Given the description of an element on the screen output the (x, y) to click on. 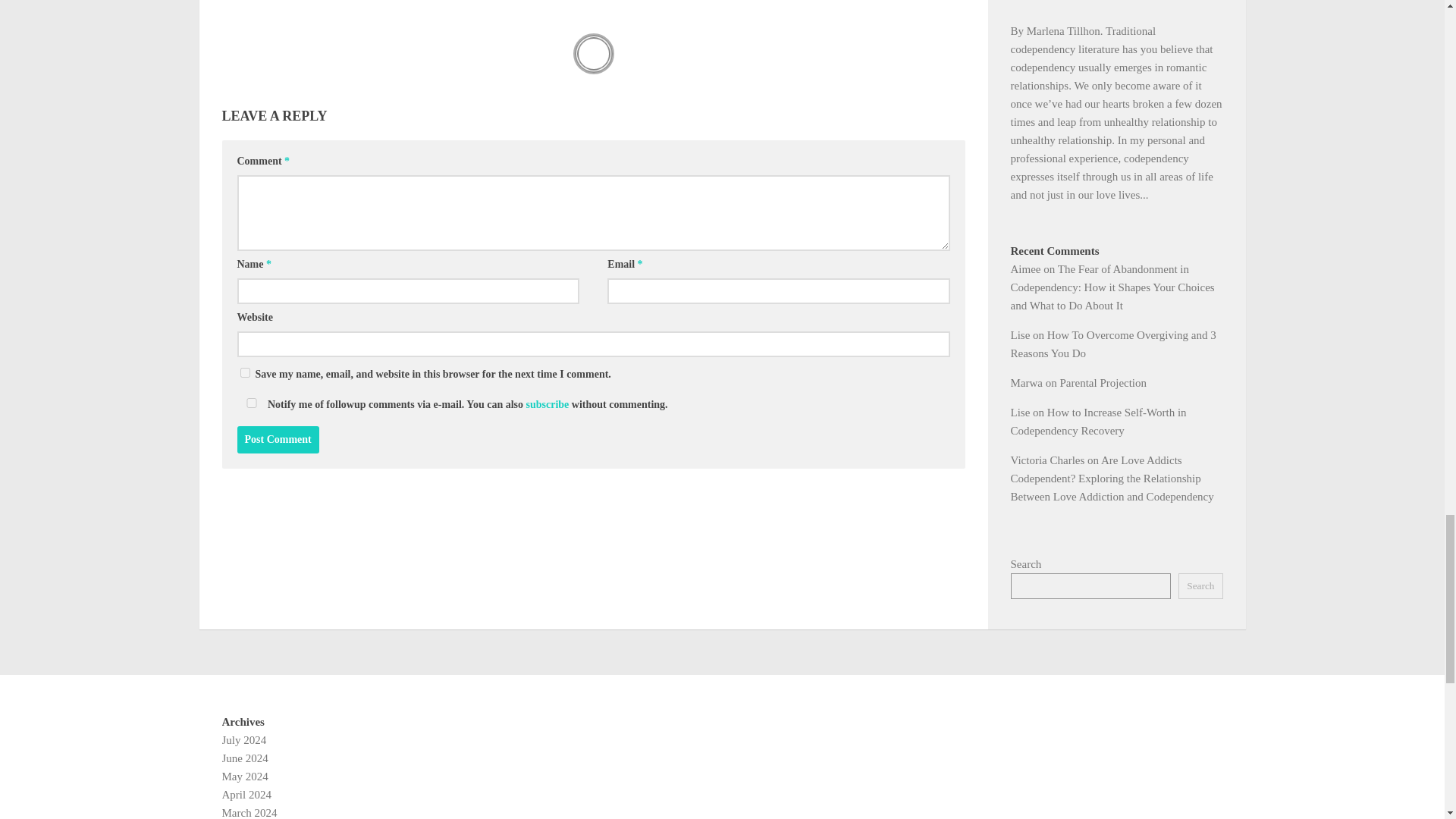
Post Comment (276, 439)
subscribe (547, 404)
How To Overcome Overgiving and 3 Reasons You Do (1112, 344)
May 2024 (244, 776)
June 2024 (244, 758)
Parental Projection (1103, 382)
Search (1200, 585)
yes (251, 402)
April 2024 (245, 794)
March 2024 (248, 812)
Post Comment (276, 439)
July 2024 (243, 739)
yes (244, 372)
